Given the description of an element on the screen output the (x, y) to click on. 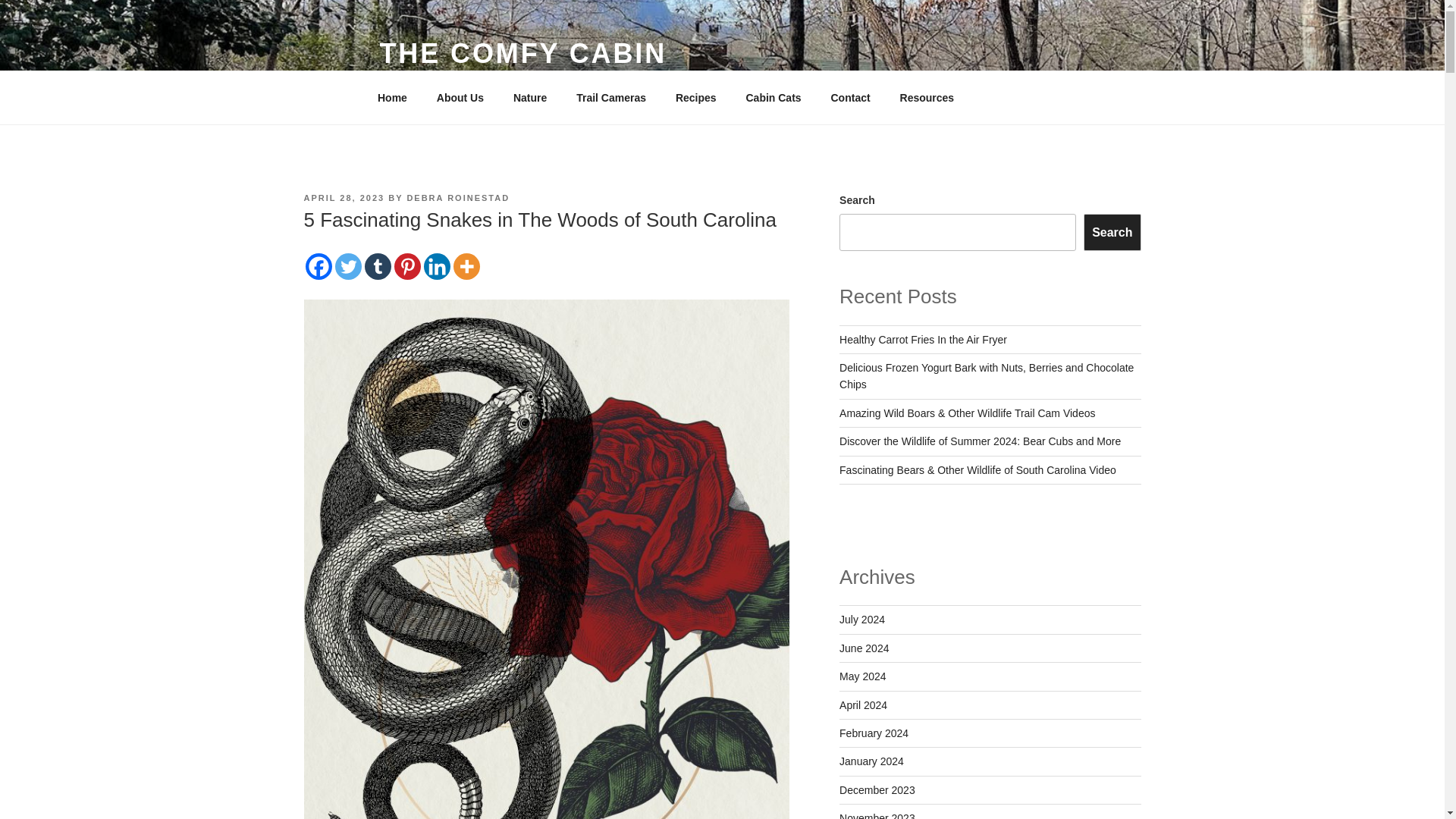
Twitter (347, 266)
APRIL 28, 2023 (343, 197)
Nature (529, 97)
Healthy Carrot Fries In the Air Fryer (923, 339)
Home (392, 97)
DEBRA ROINESTAD (457, 197)
Resources (932, 97)
Search (1111, 231)
Cabin Cats (772, 97)
Facebook (317, 266)
